Given the description of an element on the screen output the (x, y) to click on. 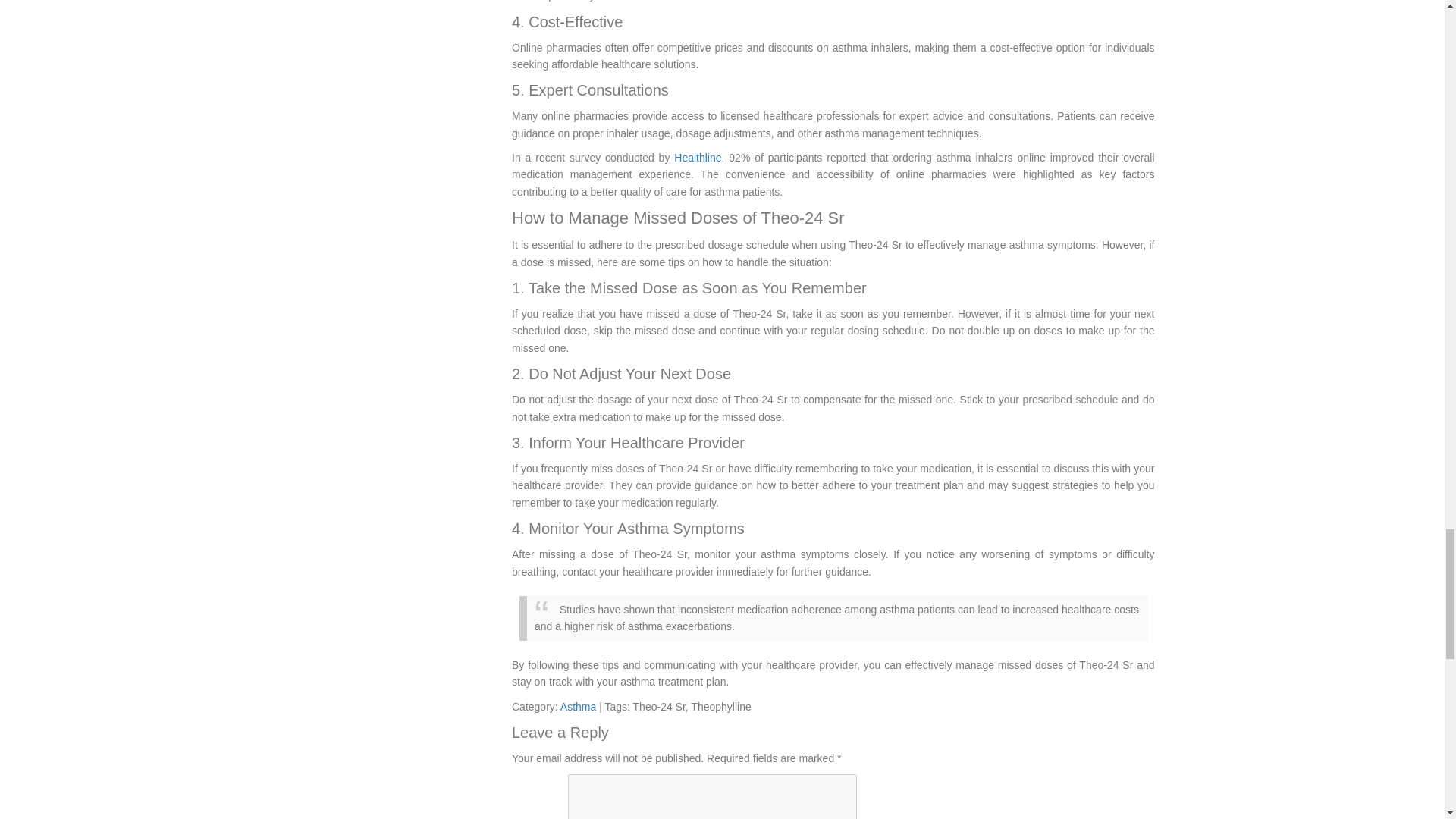
Healthline (697, 157)
Asthma (577, 706)
